Given the description of an element on the screen output the (x, y) to click on. 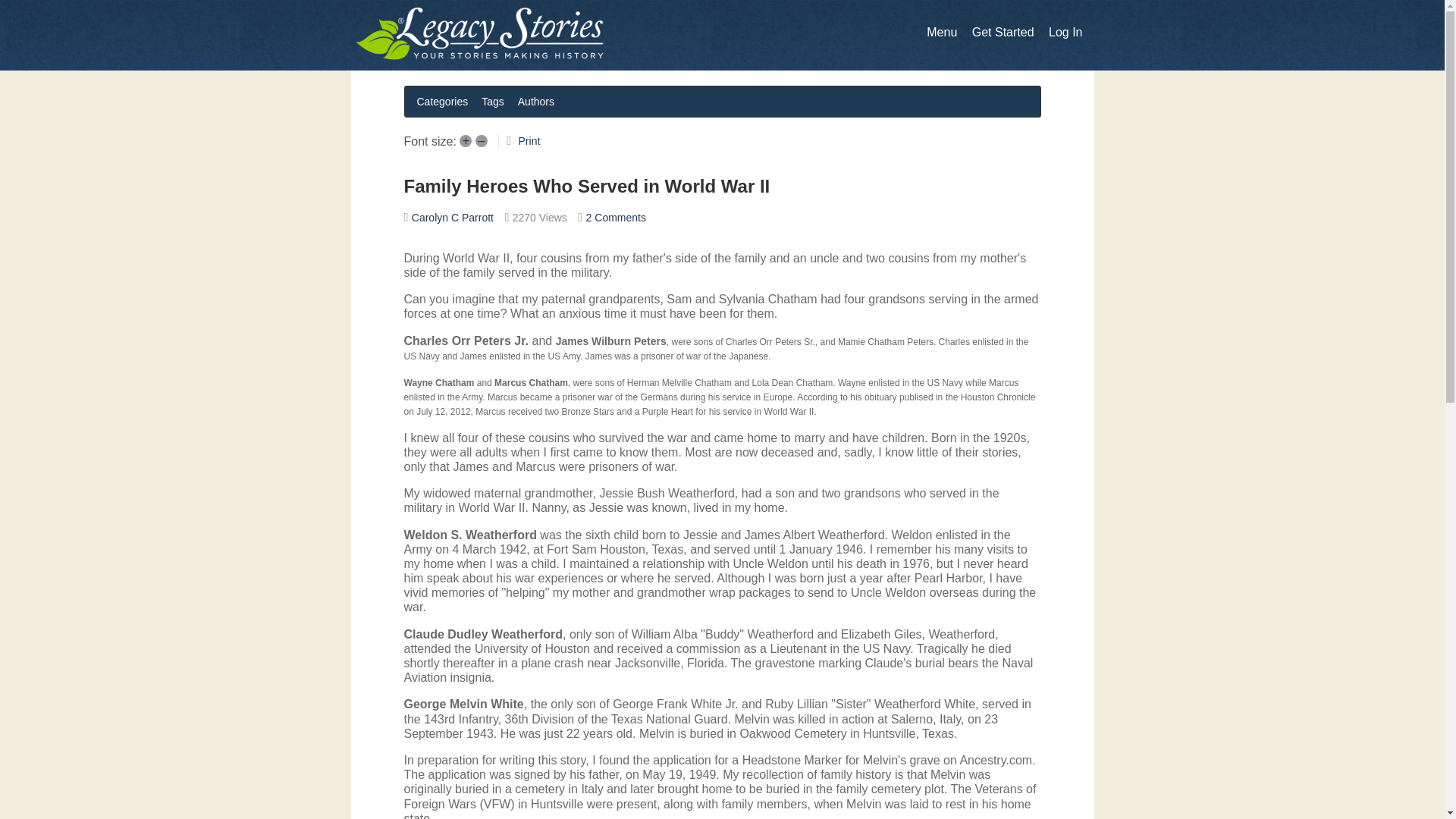
Log In (1064, 31)
Get Started (1002, 31)
Print (529, 141)
Menu (941, 31)
Carolyn C Parrott (452, 217)
Tags (493, 101)
Authors (536, 101)
Categories (442, 101)
Print (529, 141)
